Given the description of an element on the screen output the (x, y) to click on. 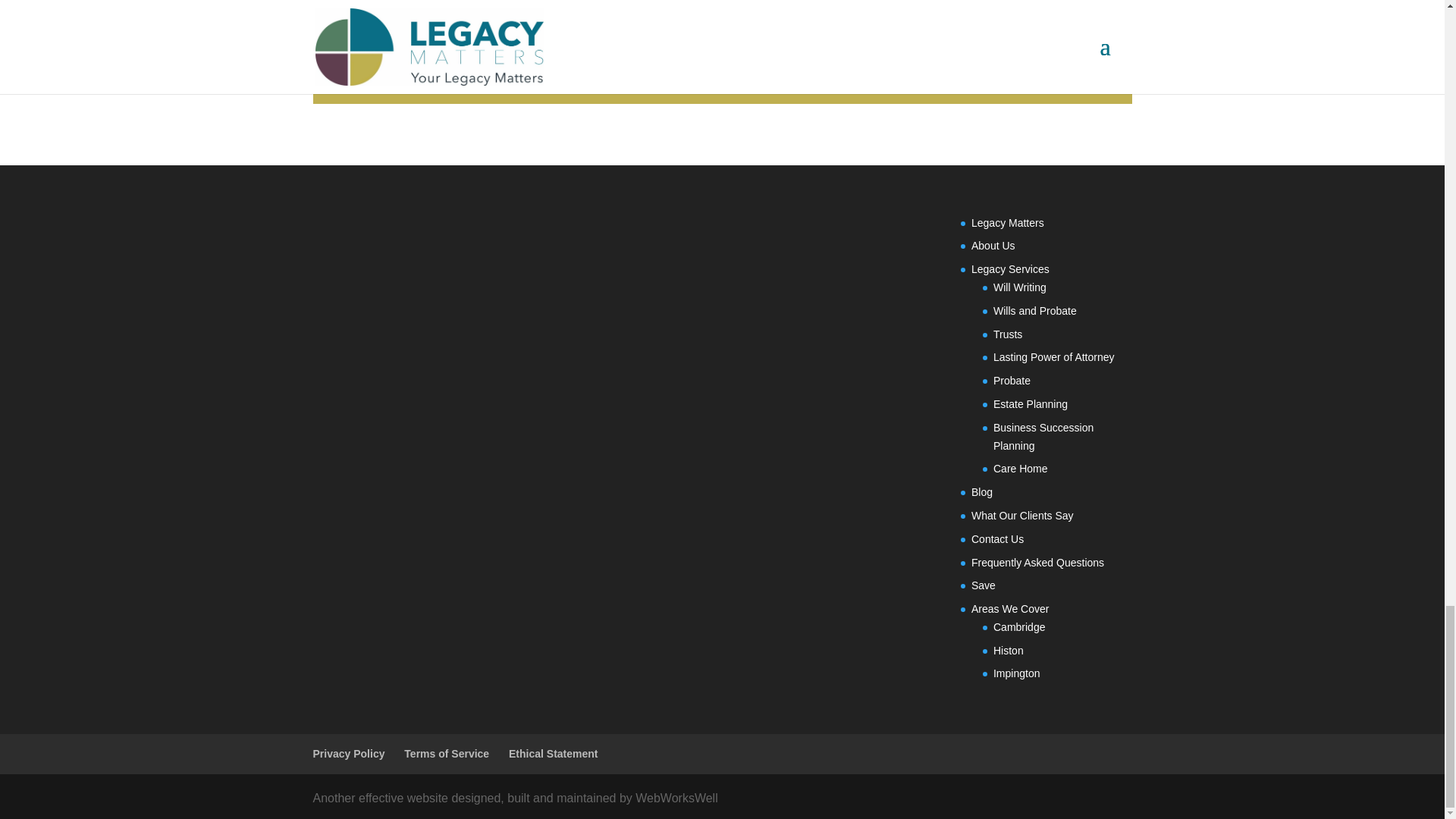
Lasting Power of Attorney (1053, 357)
Legacy Services (1010, 268)
Will Writing (1019, 287)
Probate (1011, 380)
Estate Planning (1029, 404)
About Us (992, 245)
Wills and Probate (1034, 310)
Legacy Matters (1007, 223)
Trusts (1007, 334)
